Given the description of an element on the screen output the (x, y) to click on. 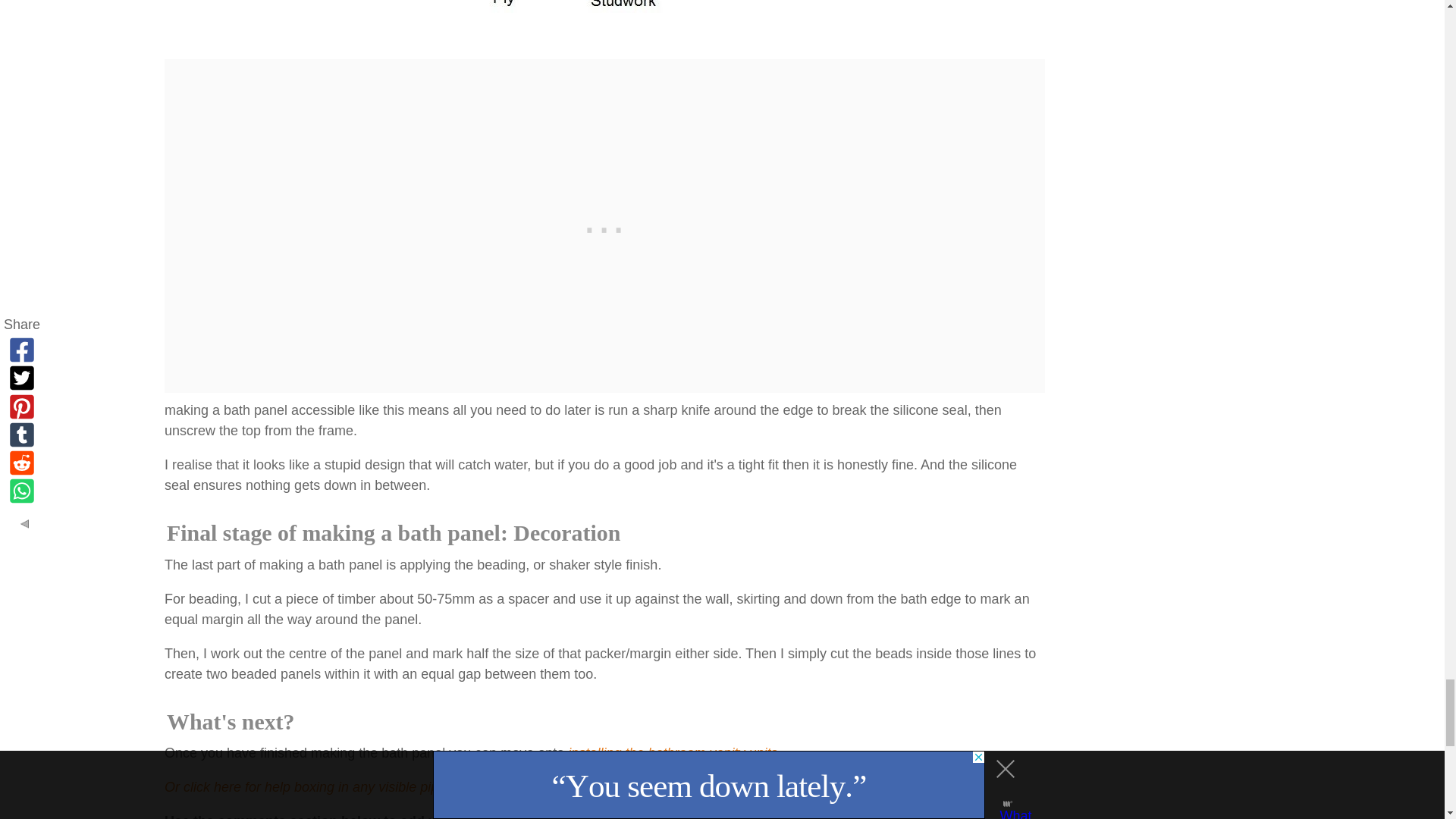
installing the bathroom vanity units (672, 752)
Or click here for help boxing in any visible pipework (319, 786)
